Given the description of an element on the screen output the (x, y) to click on. 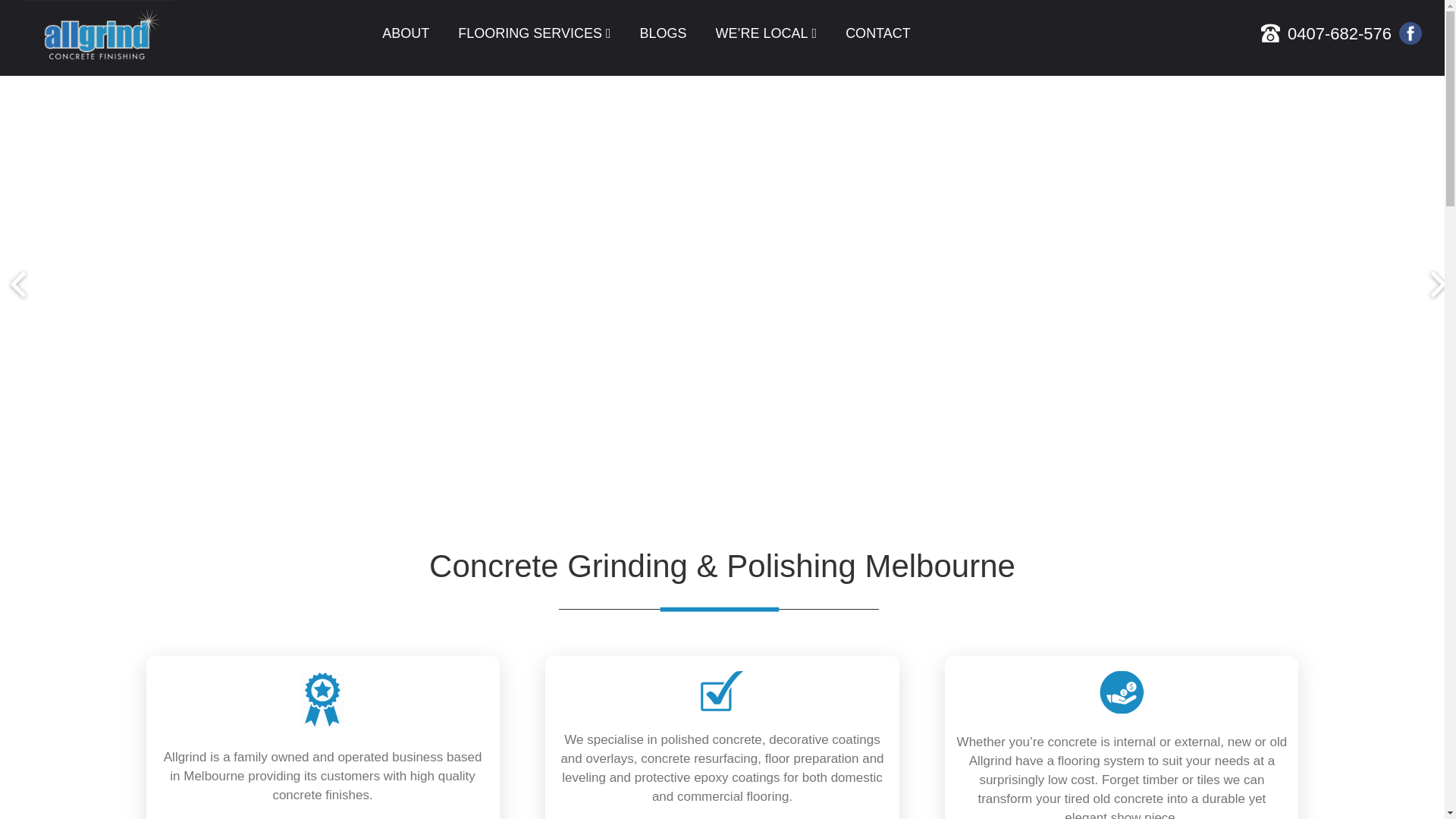
CONTACT (878, 37)
BLOGS (662, 37)
ABOUT (405, 37)
0407-682-576 (1335, 33)
FLOORING SERVICES (534, 37)
